Given the description of an element on the screen output the (x, y) to click on. 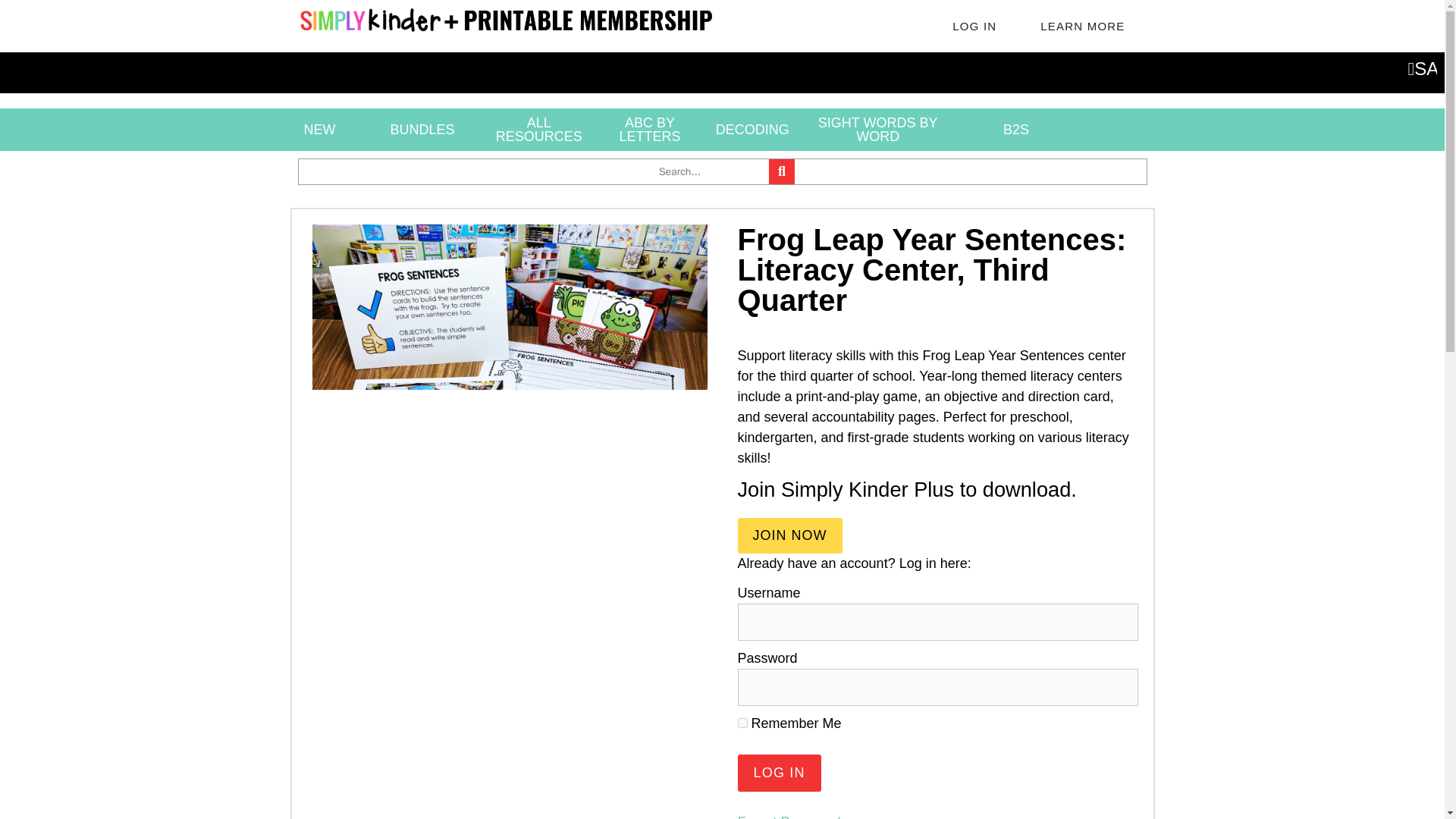
BUNDLES (421, 129)
forever (741, 723)
LEARN MORE (1082, 25)
Log In (778, 772)
NEW (319, 129)
LOG IN (974, 25)
